Given the description of an element on the screen output the (x, y) to click on. 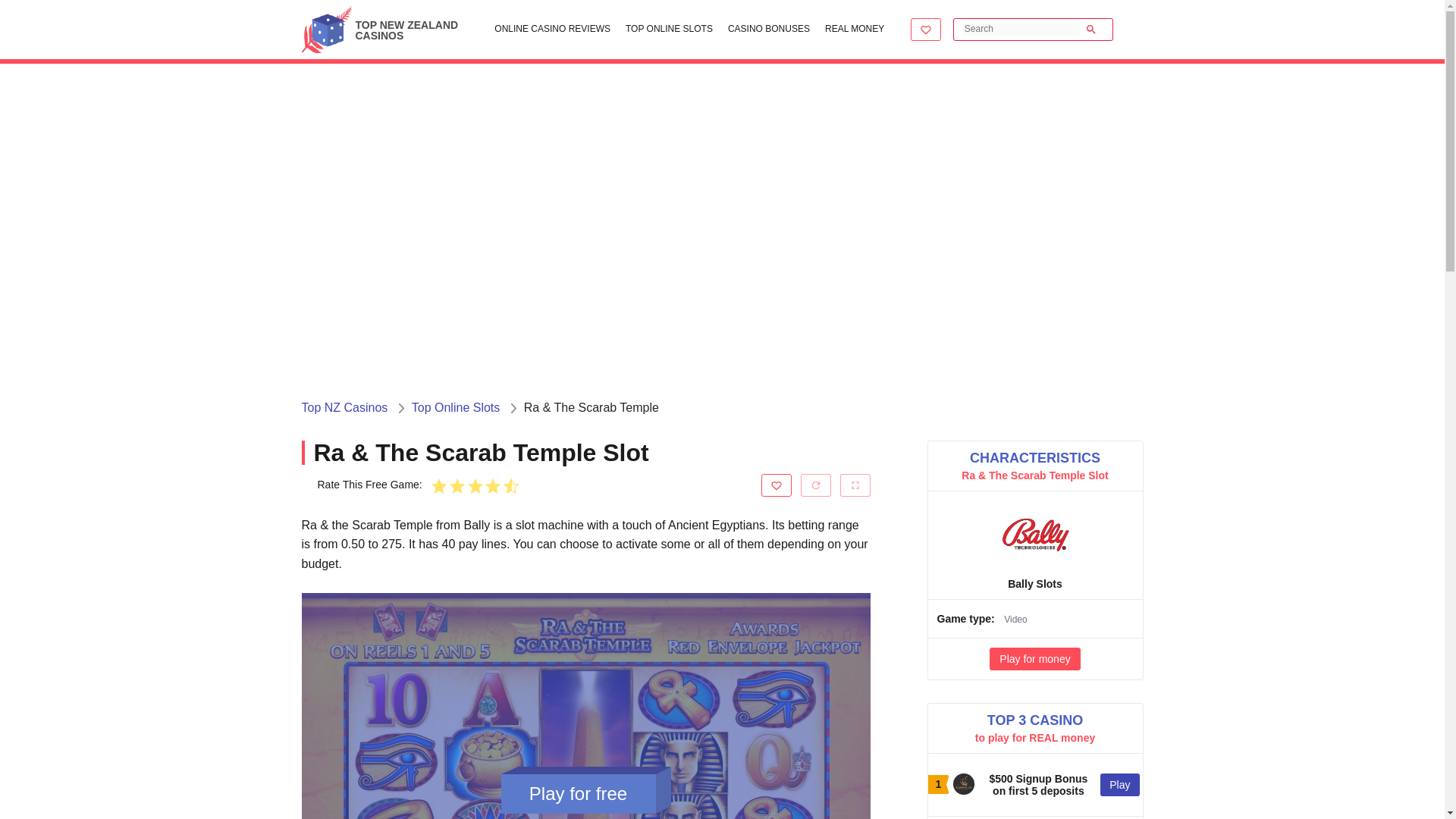
Top NZ Casinos (344, 407)
TOP ONLINE SLOTS (668, 29)
Go (1091, 29)
TOP NEW ZEALAND CASINOS (386, 34)
Play (1119, 784)
Play for money (1035, 658)
REAL MONEY (853, 29)
CASINO BONUSES (768, 29)
topnzcasinos.co.nz (326, 29)
ONLINE CASINO REVIEWS (551, 29)
